Given the description of an element on the screen output the (x, y) to click on. 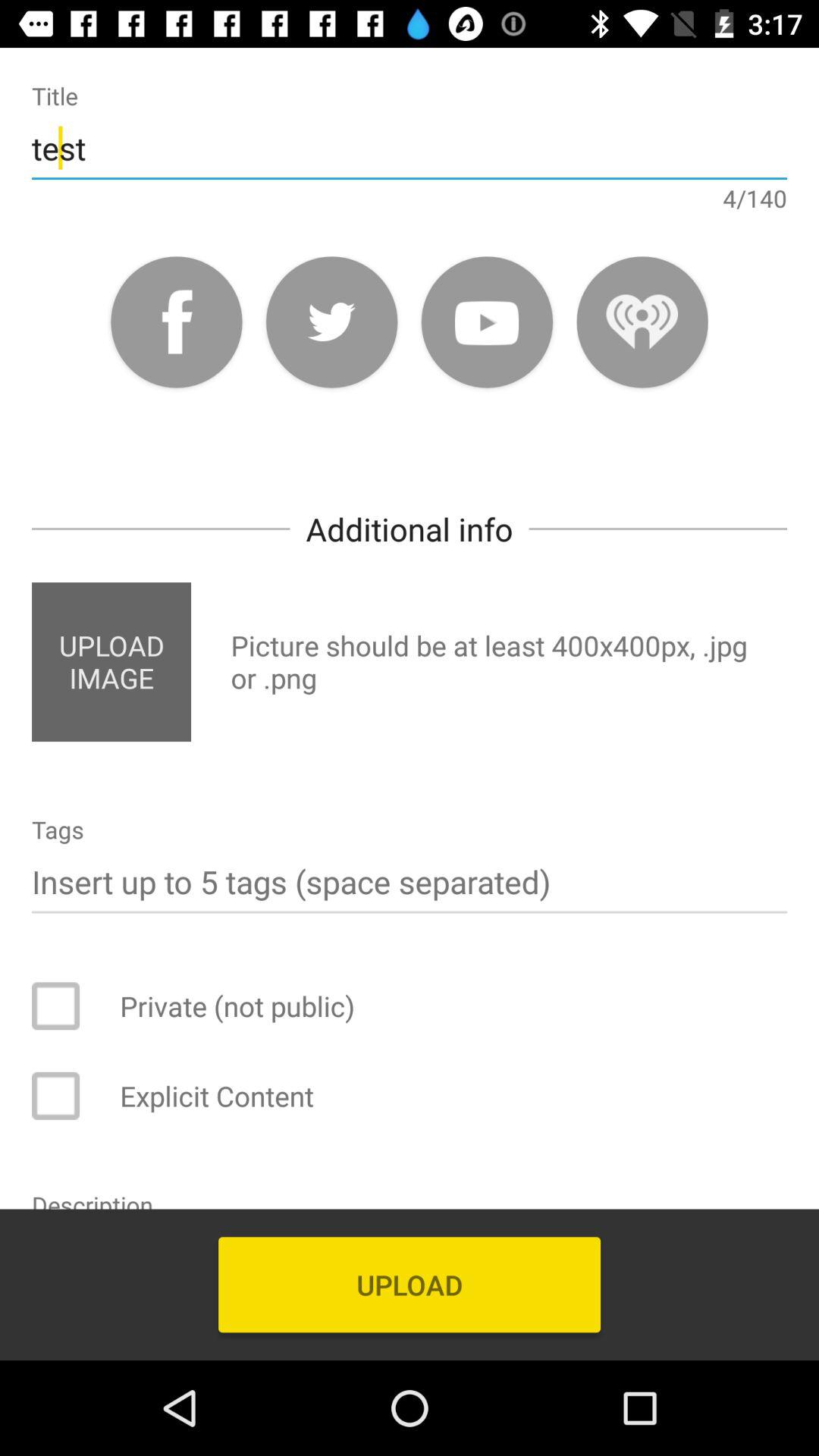
choose the icon to the left of picture should be item (111, 661)
